Given the description of an element on the screen output the (x, y) to click on. 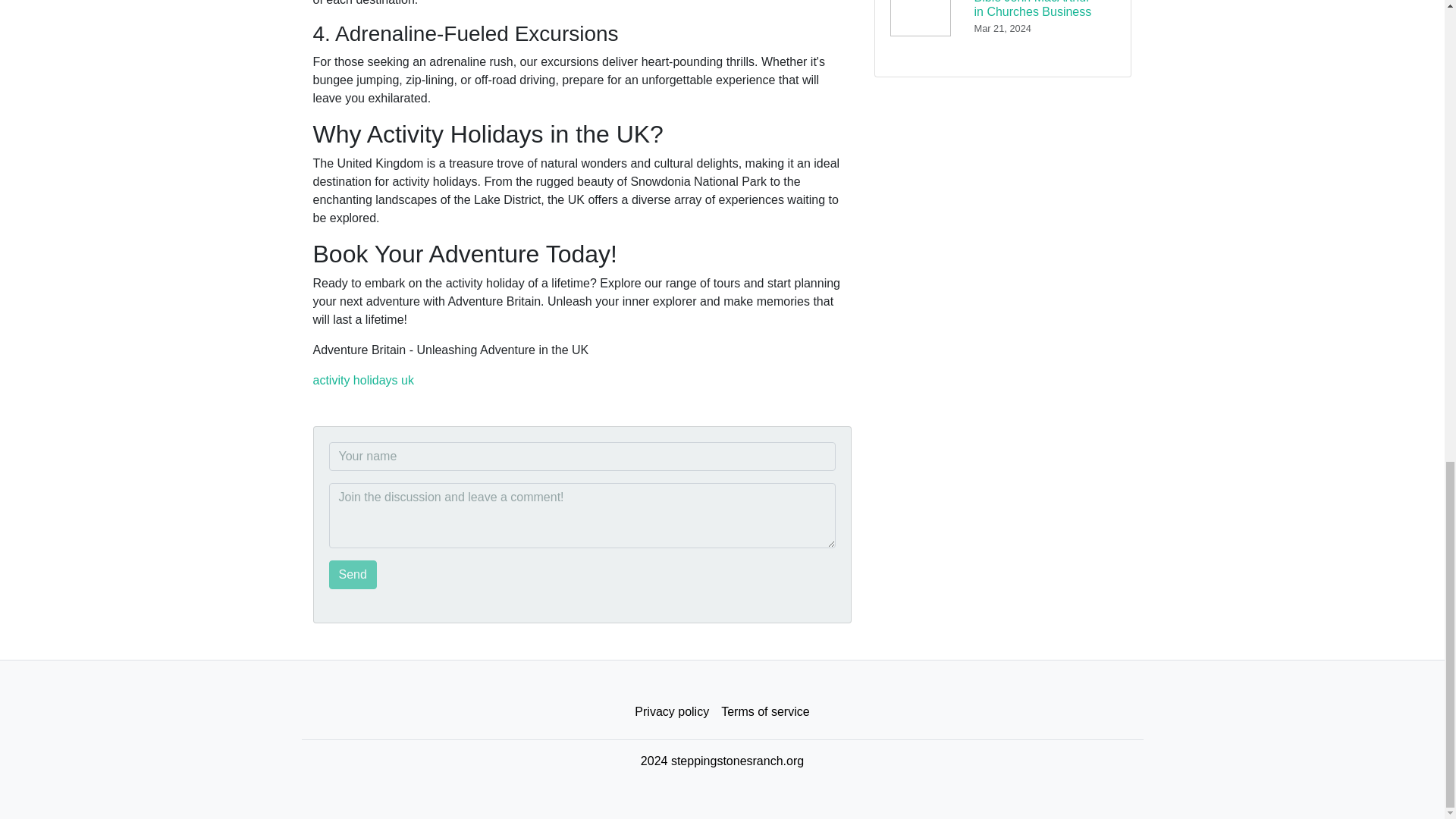
activity holidays uk (363, 379)
Send (353, 574)
Privacy policy (671, 711)
Terms of service (764, 711)
Send (353, 574)
